Given the description of an element on the screen output the (x, y) to click on. 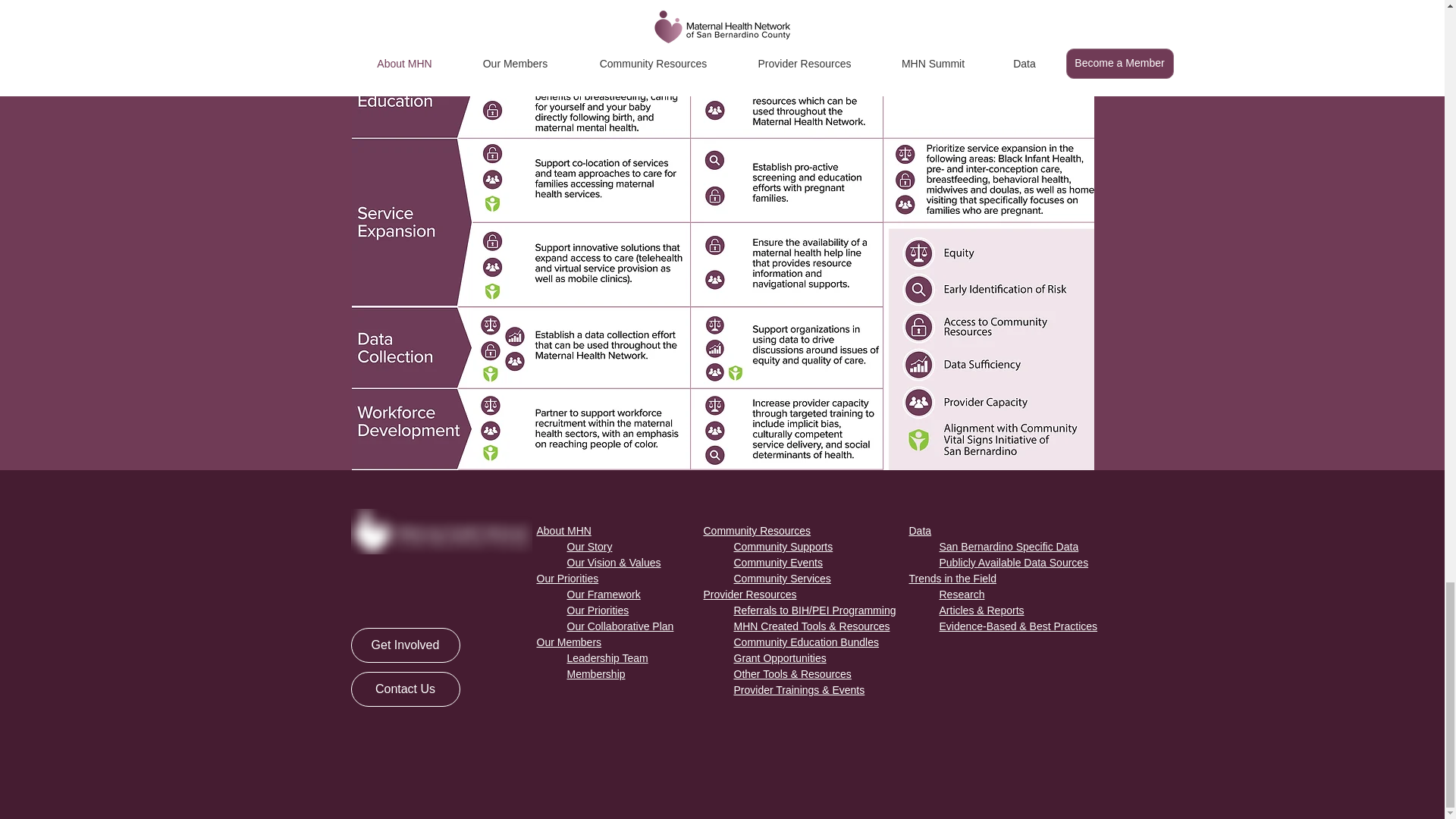
Our Story (589, 546)
About MHN (564, 530)
Contact Us (405, 688)
Get Involved (405, 645)
